Given the description of an element on the screen output the (x, y) to click on. 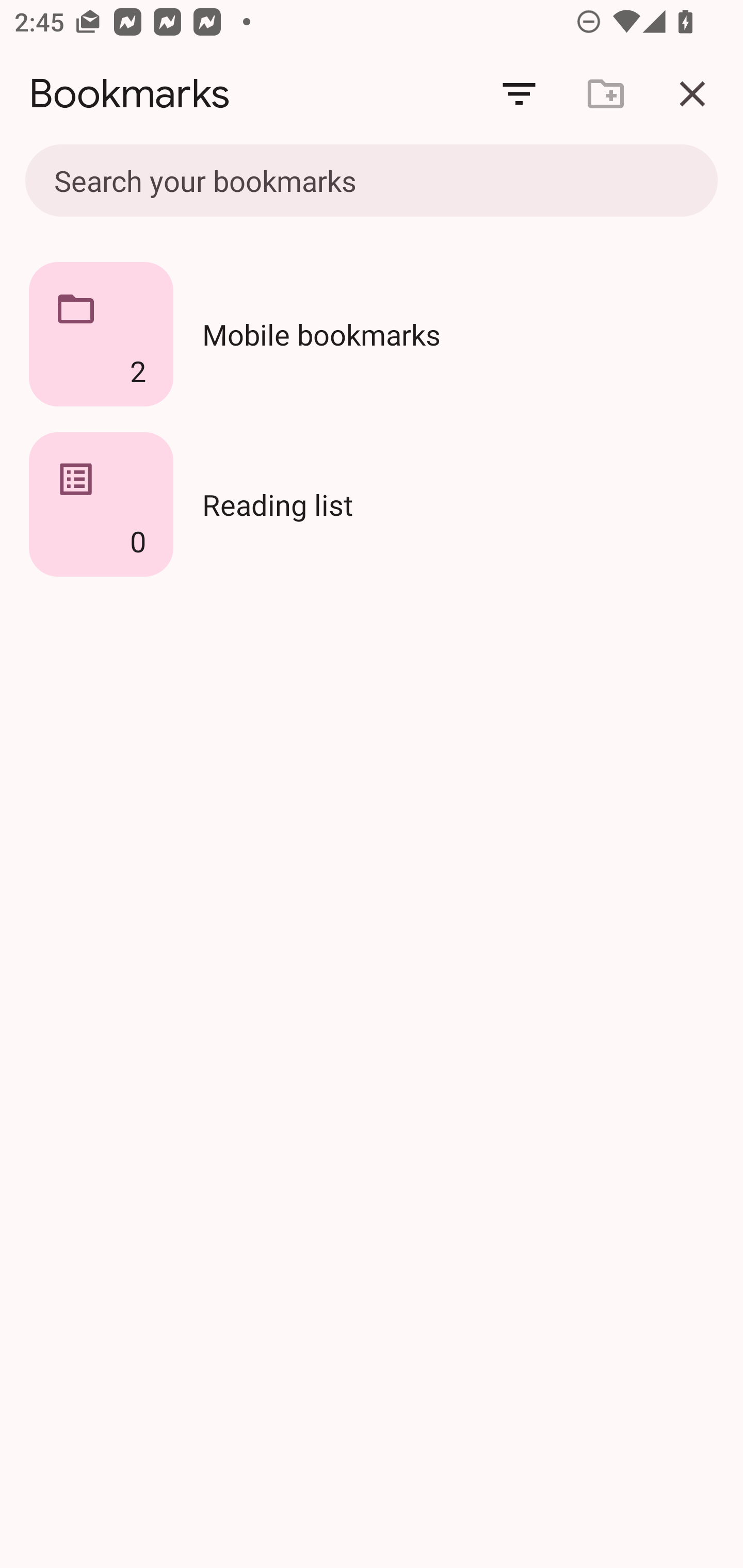
Sort and view options (518, 93)
Create new folder (605, 93)
Close dialog (692, 93)
Search your bookmarks (327, 180)
Mobile bookmarks 2 bookmarks 2 Mobile bookmarks (371, 333)
Reading list No unread pages 0 Reading list (371, 503)
